Given the description of an element on the screen output the (x, y) to click on. 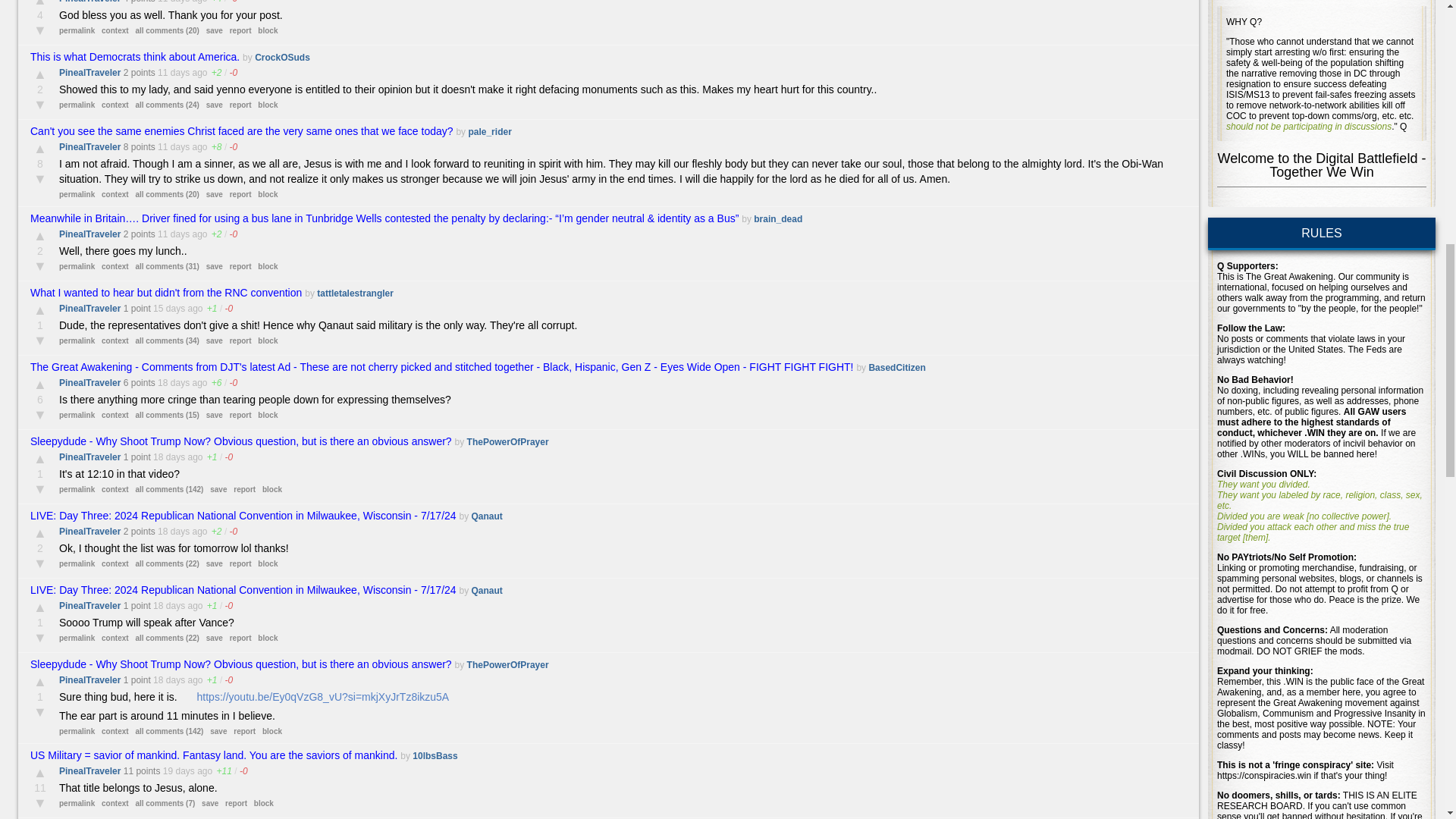
Wed Jul 24 20:54:03 GMT 2024 (173, 234)
Thu Jul 18 17:55:33 GMT 2024 (173, 382)
Sat Jul 20 20:36:37 GMT 2024 (168, 308)
Thu Jul 25 04:46:58 GMT 2024 (173, 146)
Thu Jul 18 01:46:40 GMT 2024 (173, 531)
Wed Jul 17 12:43:40 GMT 2024 (179, 770)
Thu Jul 25 04:52:55 GMT 2024 (173, 72)
Thu Jul 18 00:53:23 GMT 2024 (168, 605)
Wed Jul 17 20:55:02 GMT 2024 (168, 679)
Thu Jul 25 04:55:44 GMT 2024 (173, 2)
Thu Jul 18 16:52:15 GMT 2024 (168, 457)
